Given the description of an element on the screen output the (x, y) to click on. 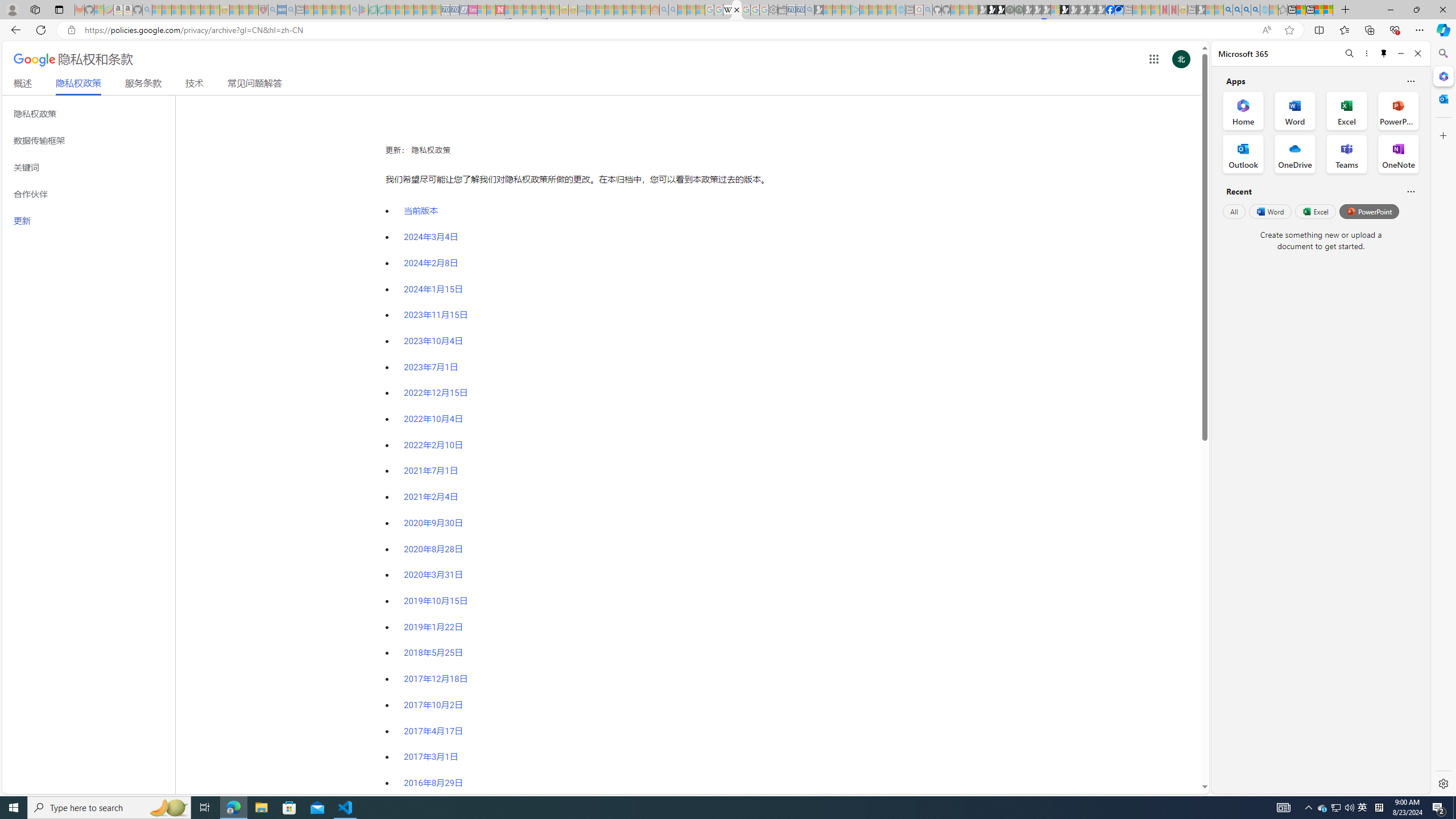
Class: gb_E (1153, 59)
Target page - Wikipedia (726, 9)
Word Office App (1295, 110)
